Given the description of an element on the screen output the (x, y) to click on. 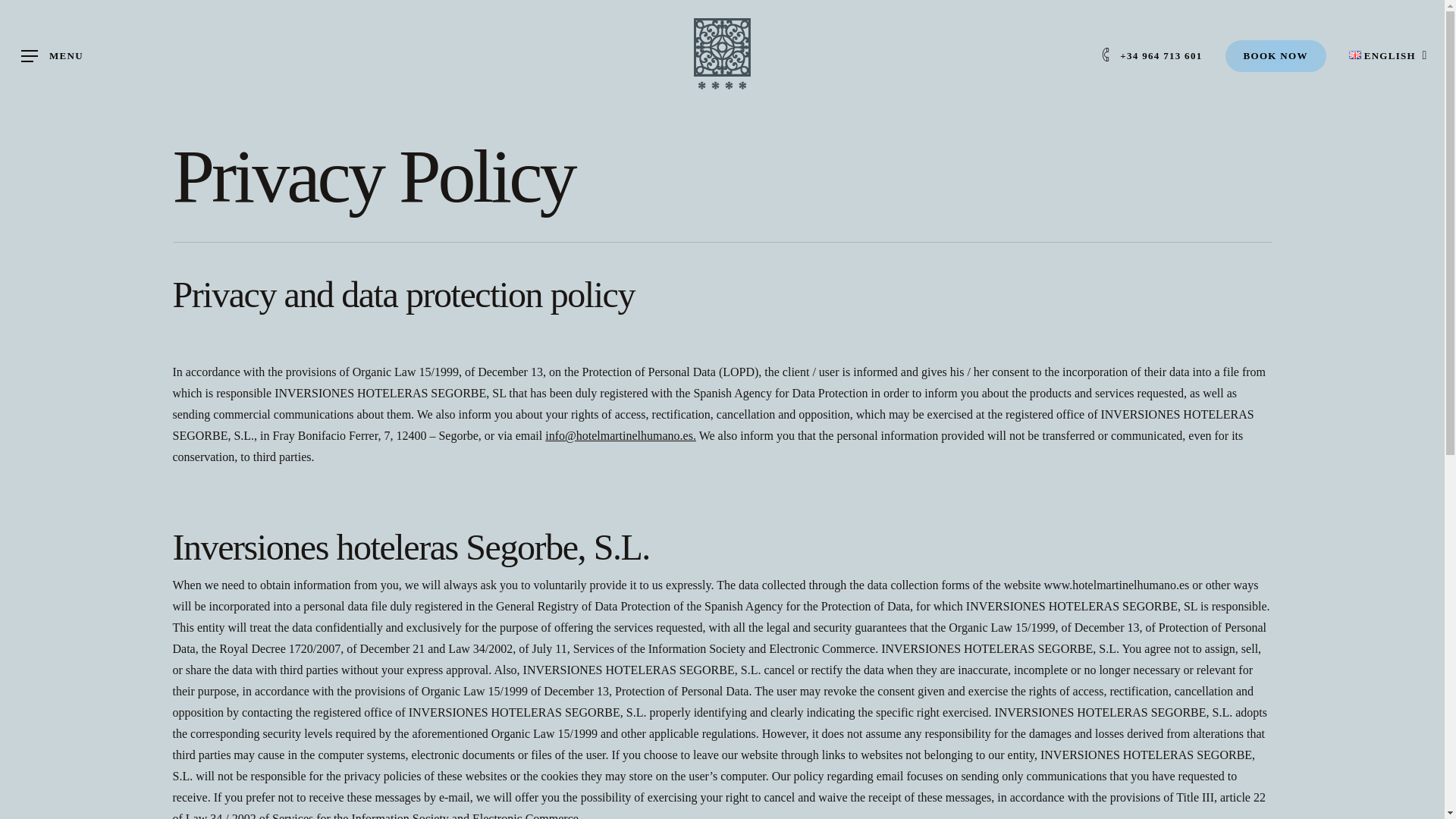
MENU (51, 56)
ENGLISH (1386, 56)
BOOK NOW (1275, 56)
